Given the description of an element on the screen output the (x, y) to click on. 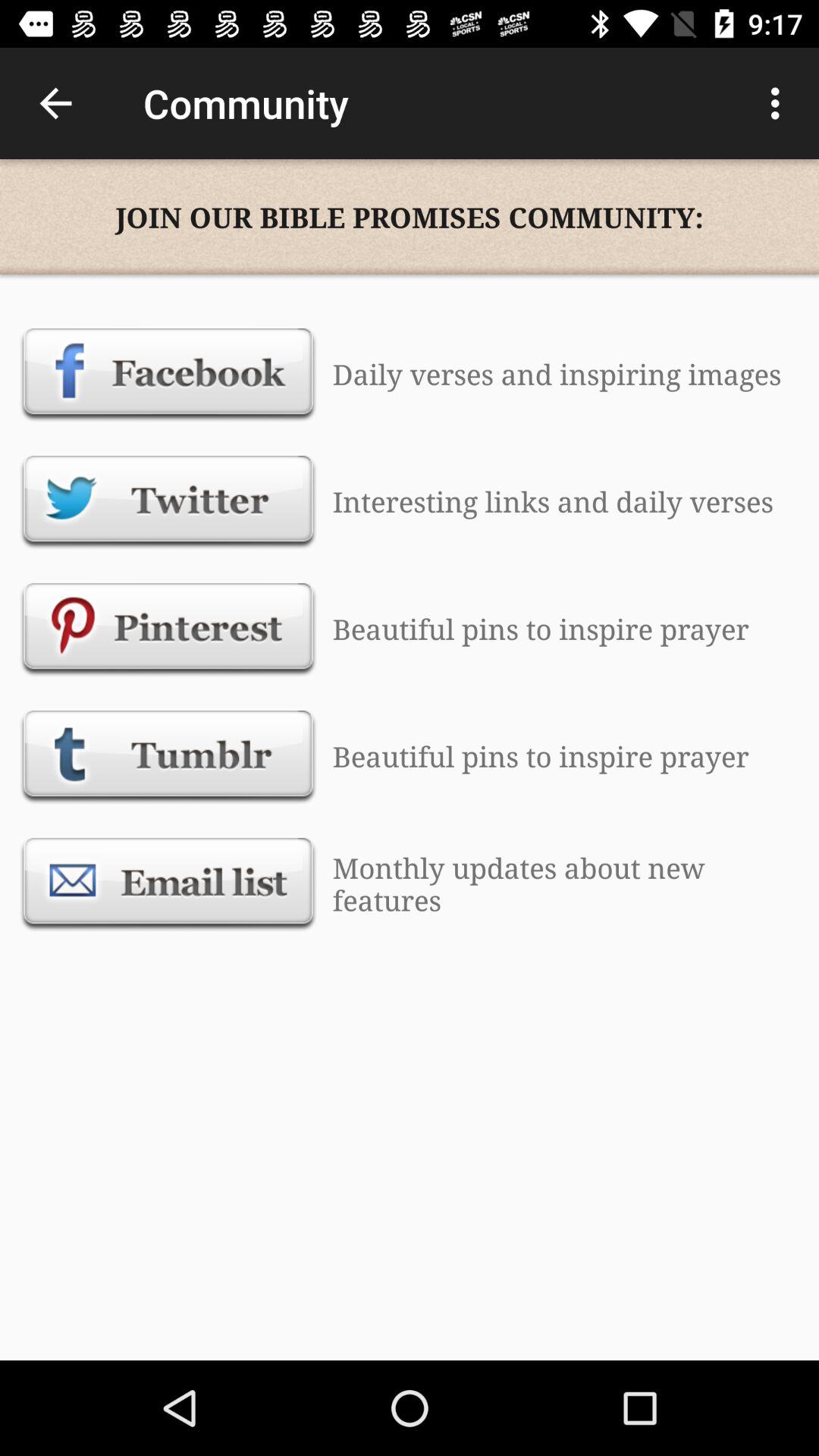
links and daily verses on (167, 501)
